Given the description of an element on the screen output the (x, y) to click on. 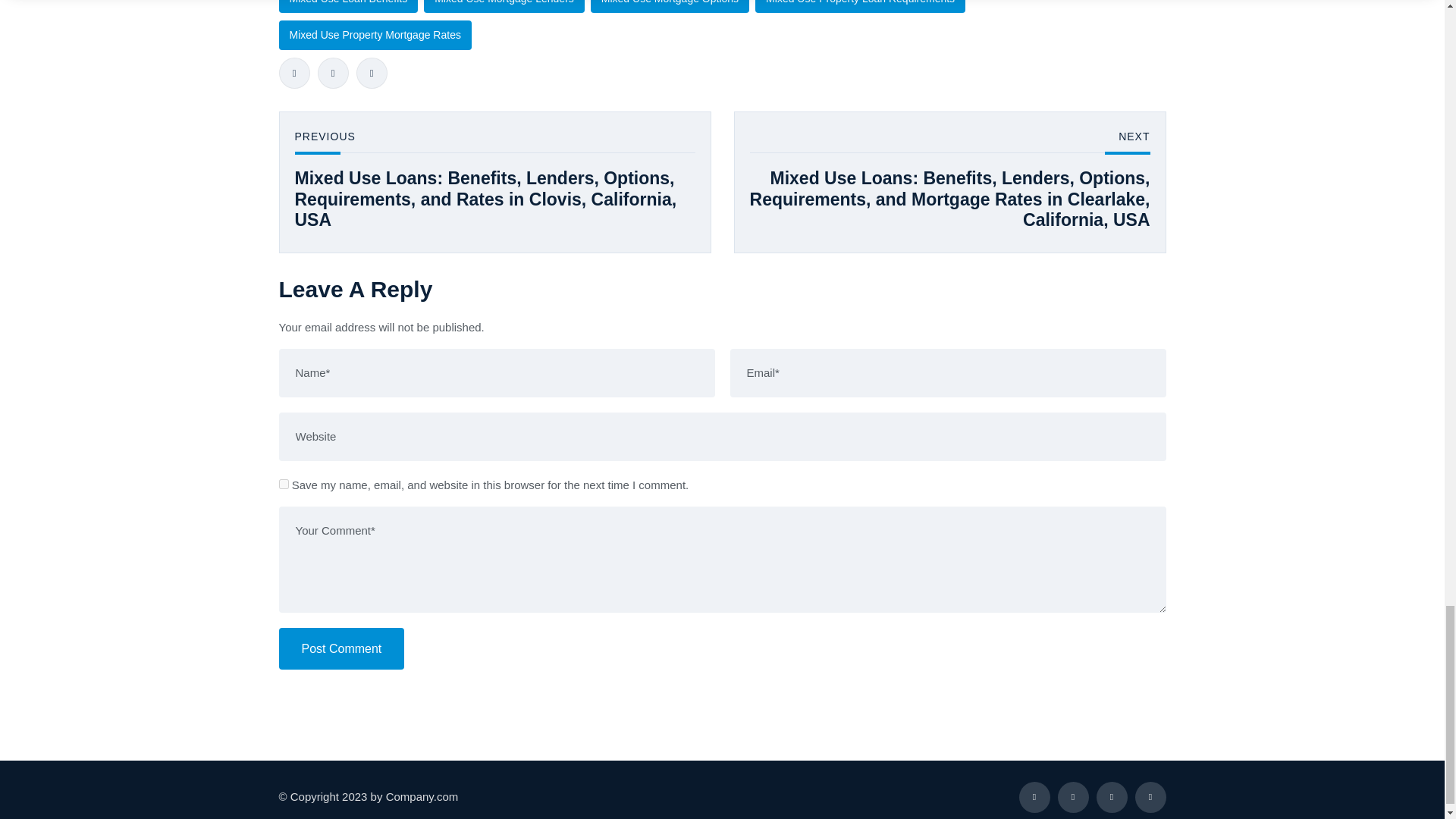
Twitter (332, 72)
yes (283, 483)
Facebook (294, 72)
Linkedin (371, 72)
